Given the description of an element on the screen output the (x, y) to click on. 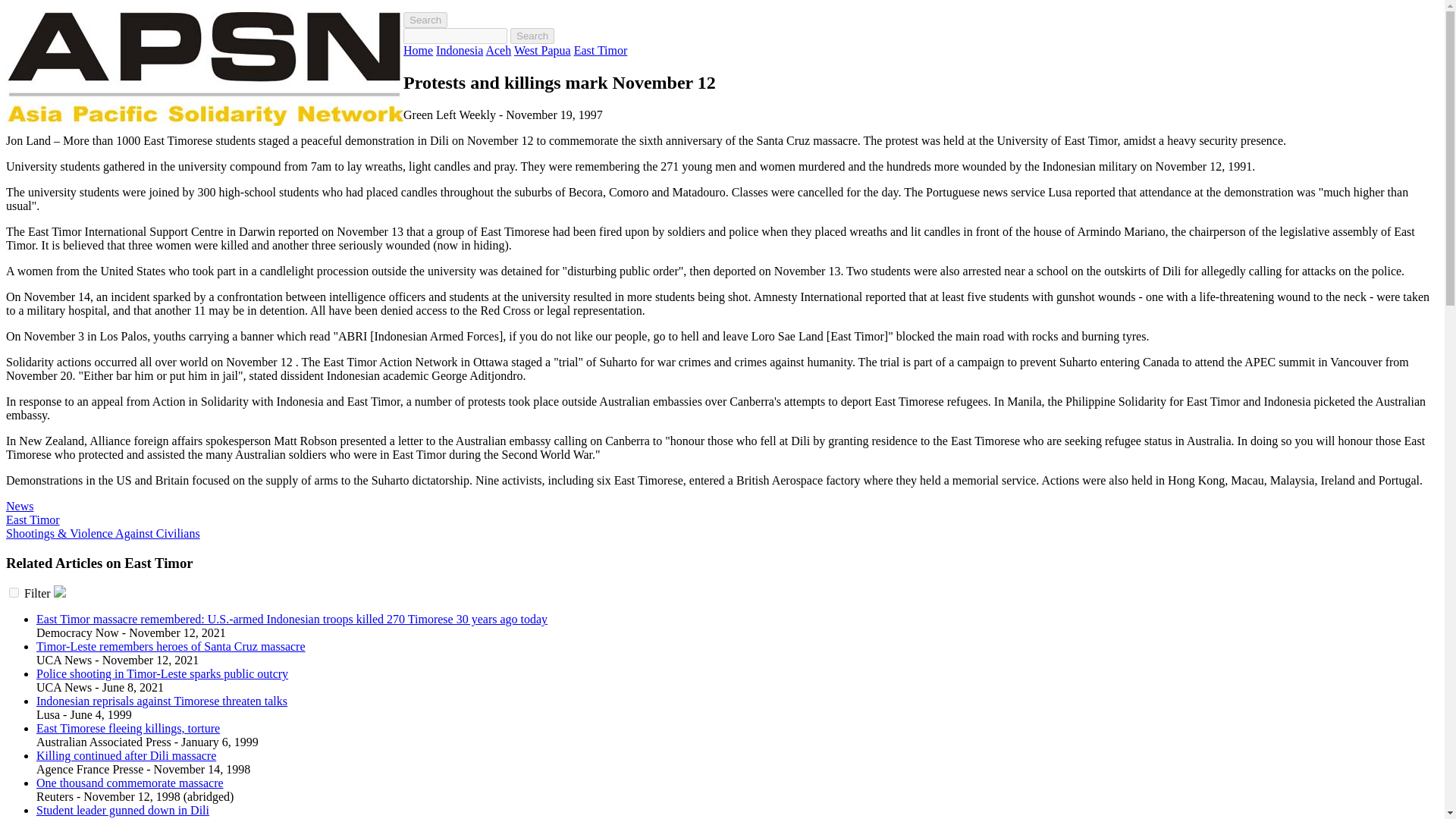
East Timor (600, 50)
Indonesia (459, 50)
Search (424, 19)
News (19, 505)
Aceh (497, 50)
Killing continued after Dili massacre (125, 755)
Police shooting in Timor-Leste sparks public outcry (162, 673)
Search this site (424, 19)
